Given the description of an element on the screen output the (x, y) to click on. 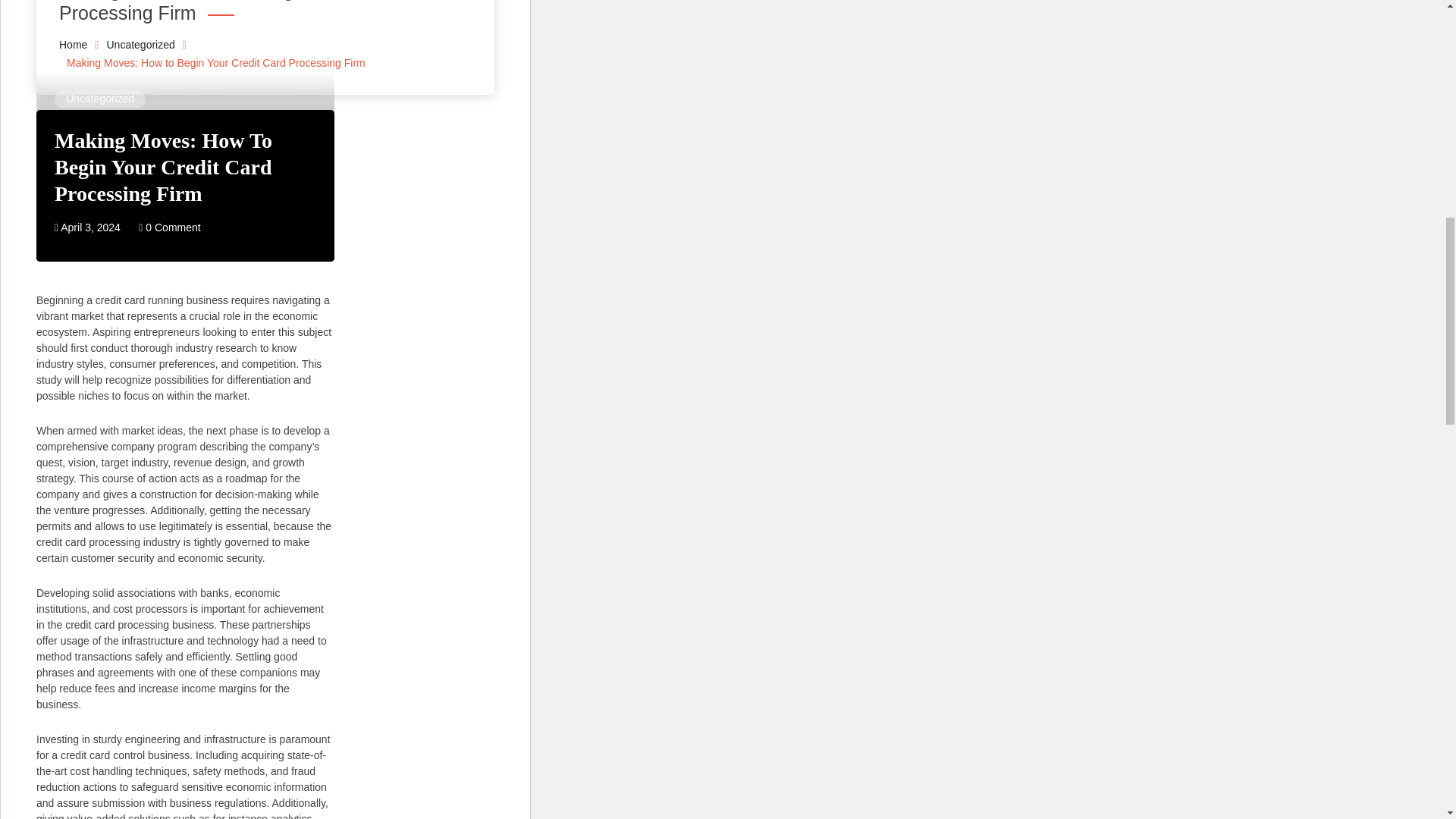
Uncategorized (99, 98)
Home (73, 43)
Uncategorized (140, 43)
0 Comment (169, 227)
Making Moves: How To Begin Your Credit Card Processing Firm (163, 166)
